Given the description of an element on the screen output the (x, y) to click on. 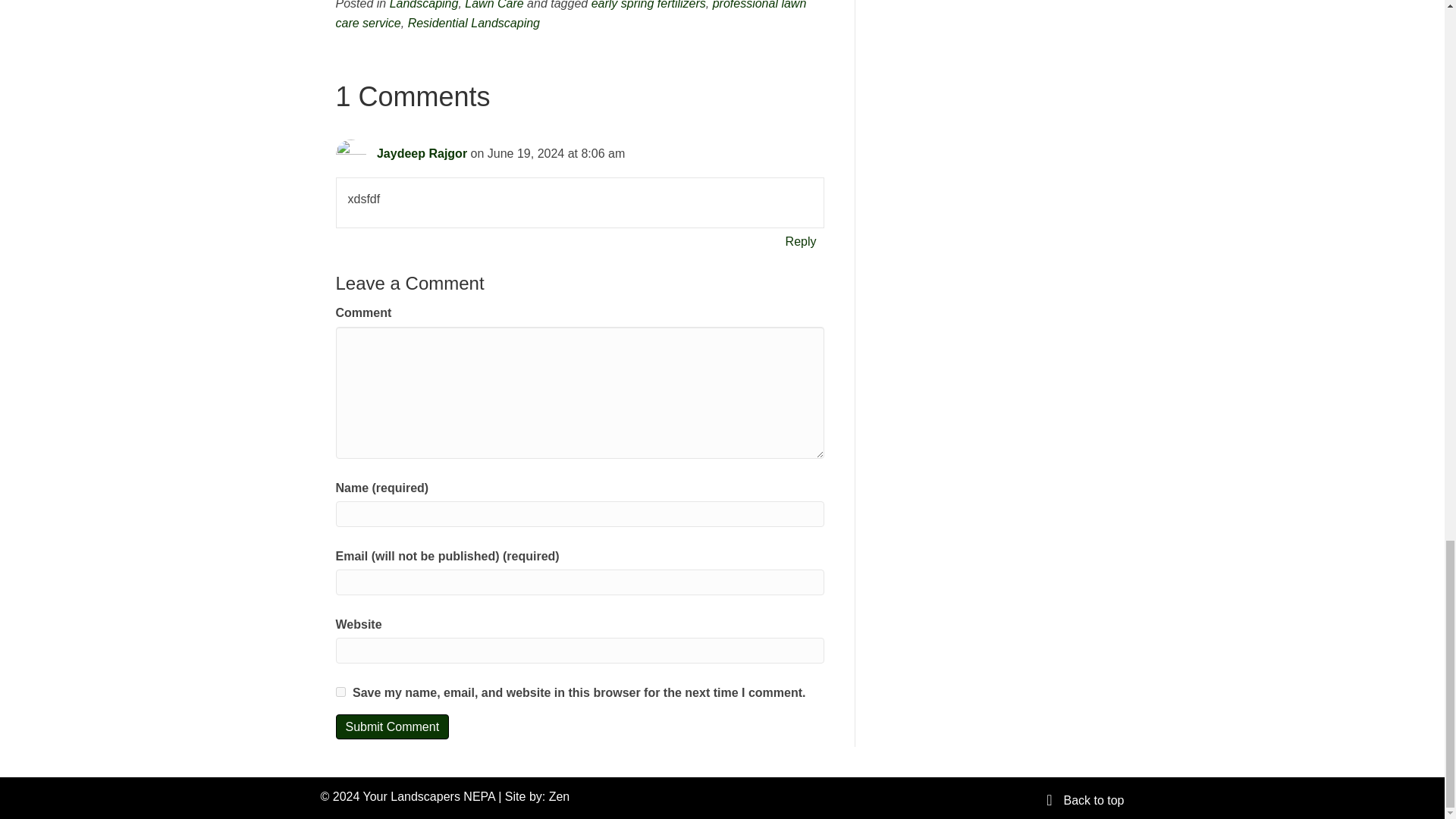
Residential Landscaping (473, 22)
professional lawn care service (570, 14)
yes (339, 691)
Submit Comment (391, 726)
Lawn Care (493, 4)
Reply (801, 240)
Submit Comment (391, 726)
Landscaping (424, 4)
Jaydeep Rajgor (422, 153)
early spring fertilizers (648, 4)
